Given the description of an element on the screen output the (x, y) to click on. 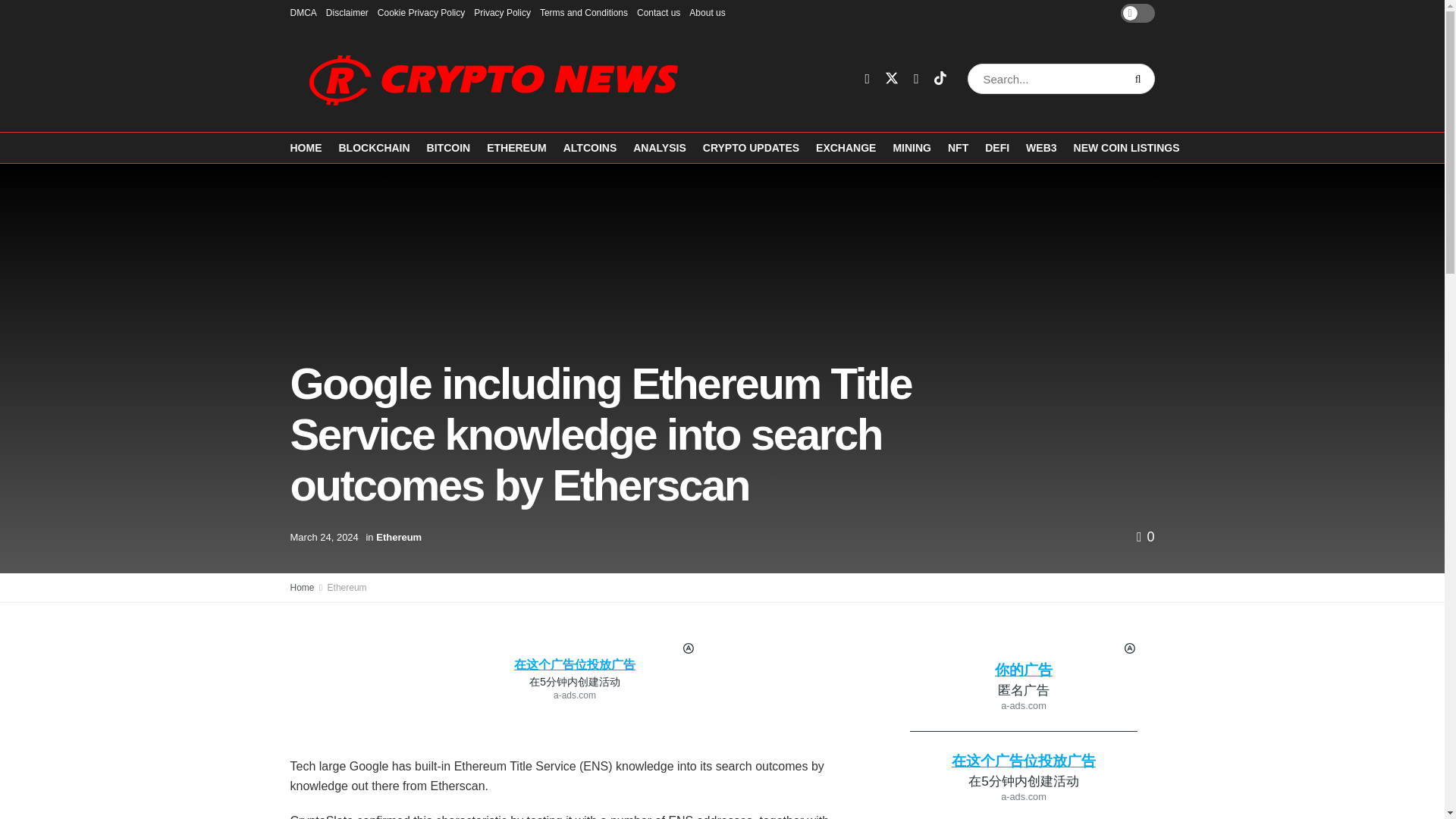
NEW COIN LISTINGS (1126, 147)
BLOCKCHAIN (373, 147)
BITCOIN (448, 147)
ANALYSIS (659, 147)
Disclaimer (347, 12)
Privacy Policy (502, 12)
DMCA (302, 12)
Terms and Conditions (583, 12)
WEB3 (1041, 147)
About us (706, 12)
HOME (305, 147)
MINING (911, 147)
CRYPTO UPDATES (751, 147)
ALTCOINS (590, 147)
ETHEREUM (516, 147)
